Given the description of an element on the screen output the (x, y) to click on. 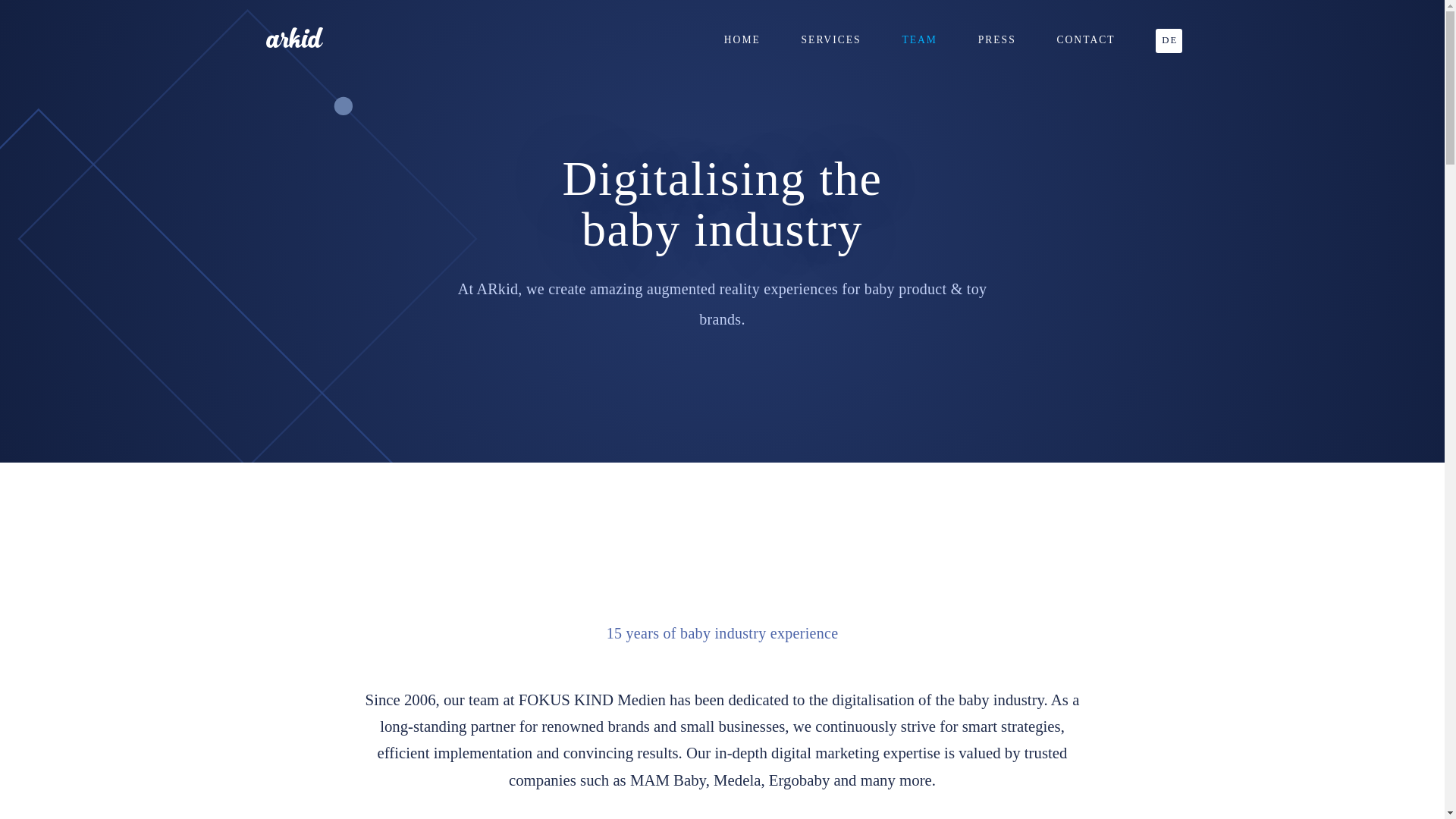
PRESS (997, 41)
TEAM (919, 41)
HOME (741, 41)
DE (1169, 40)
CONTACT (1086, 41)
SERVICES (831, 41)
